Given the description of an element on the screen output the (x, y) to click on. 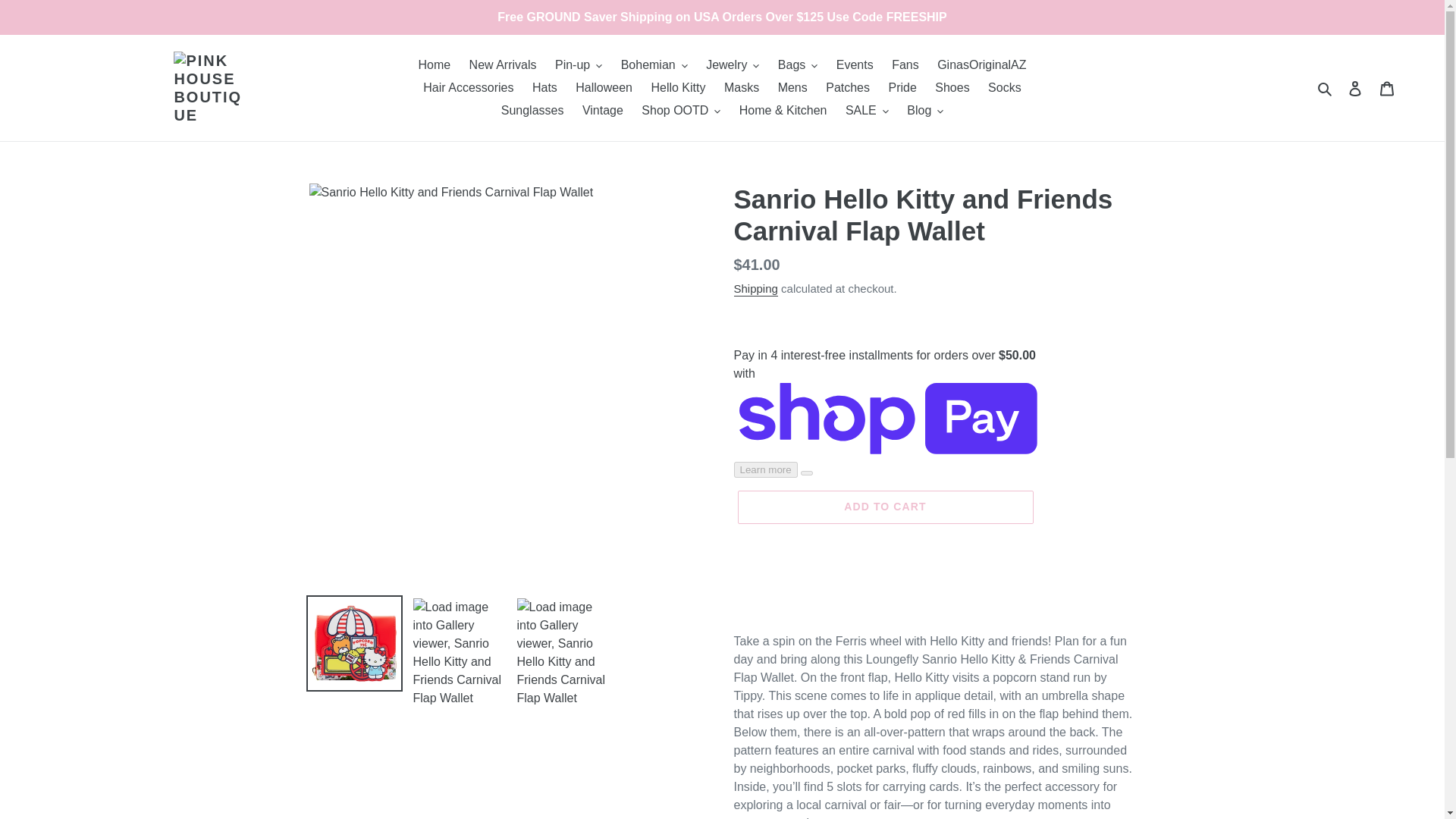
New Arrivals (502, 65)
Bags (797, 65)
Home (434, 65)
Pin-up (578, 65)
Bohemian (653, 65)
Jewelry (732, 65)
